Given the description of an element on the screen output the (x, y) to click on. 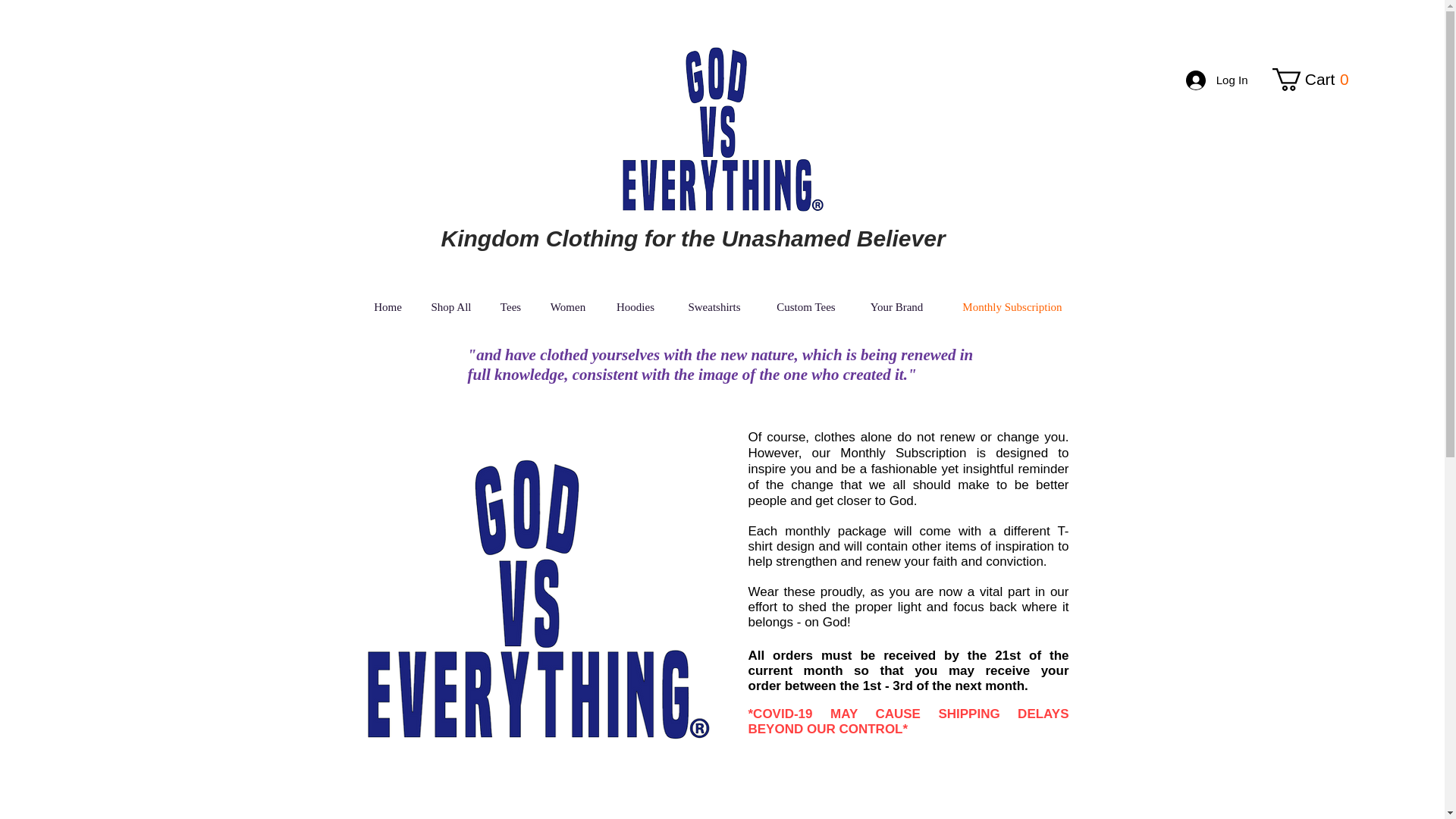
Sweatshirts (713, 307)
Women (568, 307)
Monthly Subscription (1315, 78)
Your Brand (1012, 307)
Shop All (1315, 78)
Log In (896, 307)
Home (450, 307)
Hoodies (1216, 79)
Tees (386, 307)
Custom Tees (634, 307)
